Given the description of an element on the screen output the (x, y) to click on. 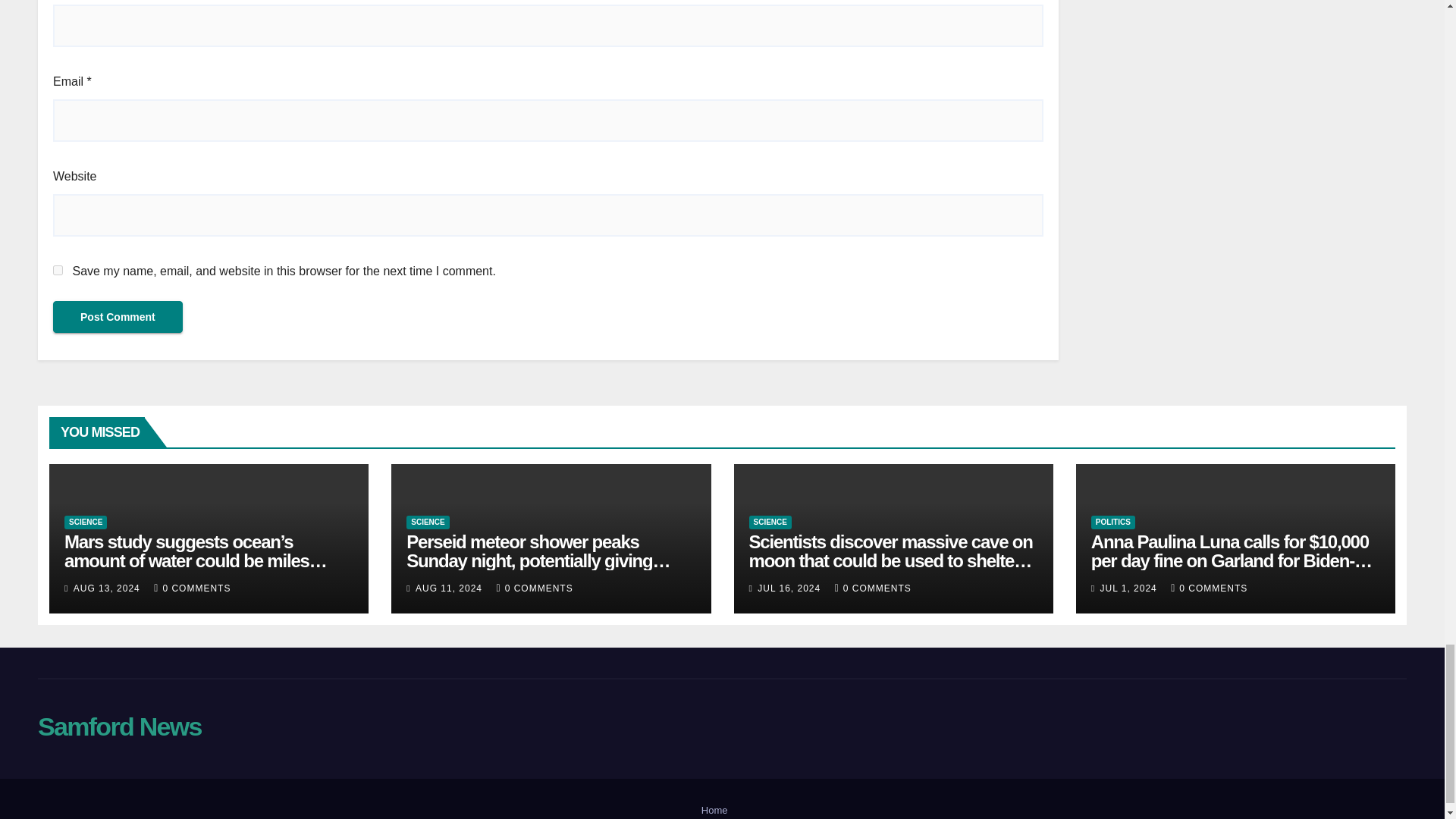
Post Comment (117, 316)
yes (57, 270)
Post Comment (117, 316)
